Given the description of an element on the screen output the (x, y) to click on. 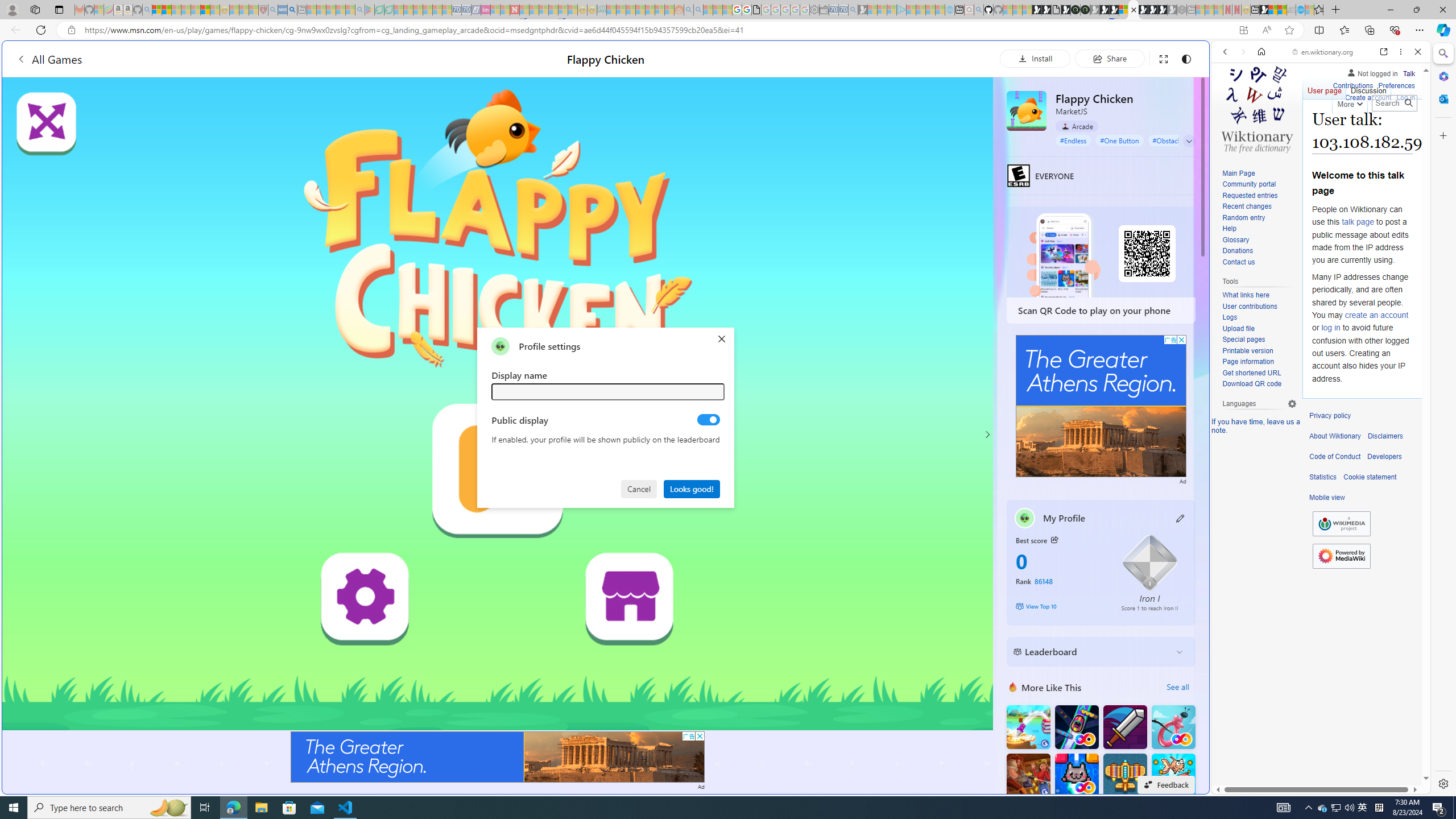
Install (1034, 58)
Contact us (1238, 261)
#Endless (1073, 140)
Recent changes (1259, 206)
Play Cave FRVR in your browser | Games from Microsoft Start (922, 242)
The Weather Channel - MSN - Sleeping (175, 9)
Class: button (1053, 539)
Requested entries (1259, 196)
Community portal (1259, 184)
MSNBC - MSN - Sleeping (611, 9)
